Given the description of an element on the screen output the (x, y) to click on. 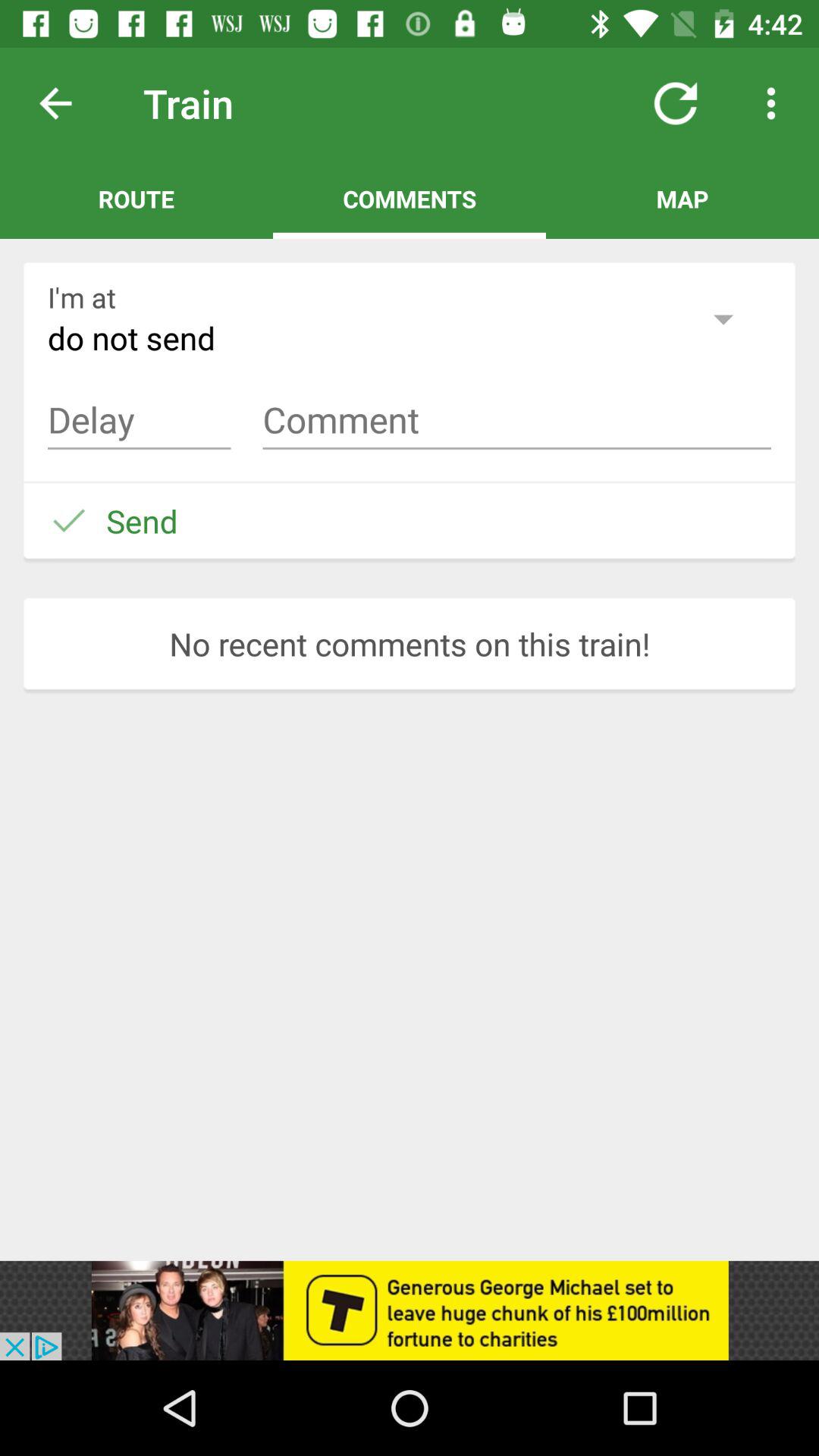
go to previous (67, 103)
